Given the description of an element on the screen output the (x, y) to click on. 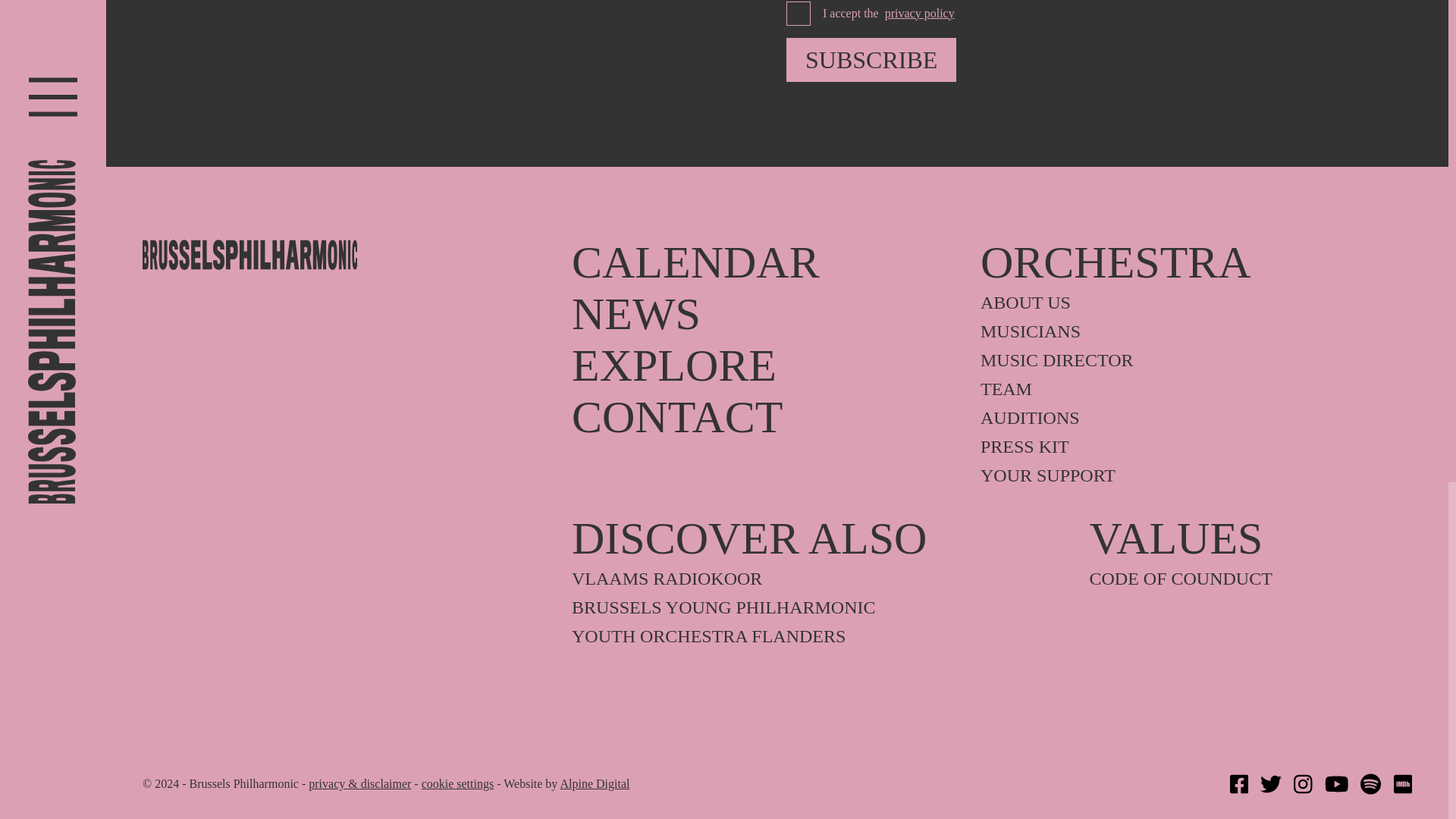
CONTACT (765, 416)
MUSIC DIRECTOR (1184, 359)
PRESS KIT (1184, 445)
YOUR SUPPORT (1184, 475)
EXPLORE (765, 365)
privacy policy (920, 13)
NEWS (765, 313)
ABOUT US (1184, 302)
SUBSCRIBE (871, 59)
BRUSSELS YOUNG PHILHARMONIC (819, 607)
